Given the description of an element on the screen output the (x, y) to click on. 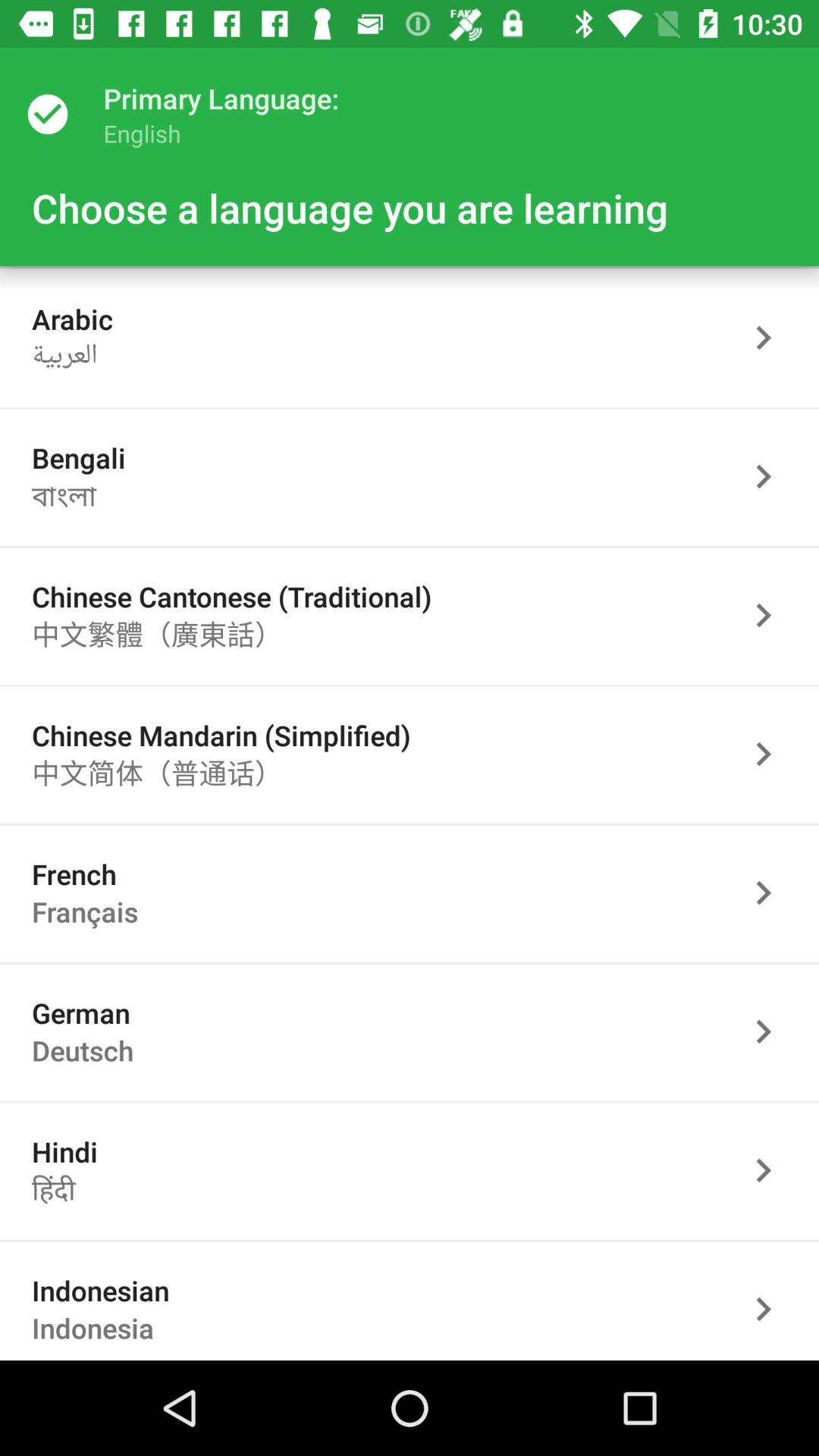
validate choice (771, 615)
